Given the description of an element on the screen output the (x, y) to click on. 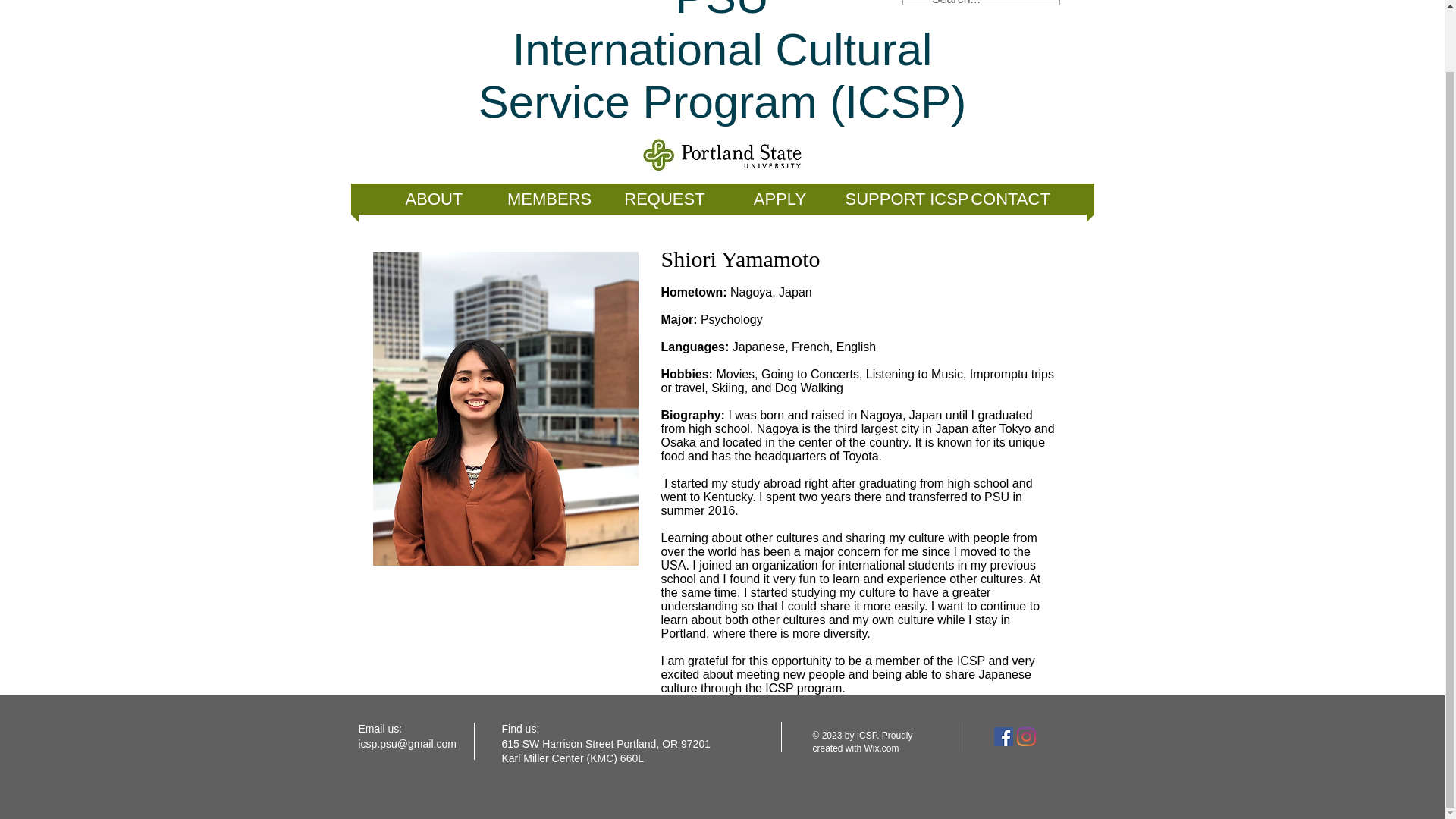
CONTACT (1009, 198)
SUPPORT ICSP (894, 198)
Wix.com (881, 747)
APPLY (779, 198)
REQUEST (664, 198)
MEMBERS (706, 63)
ABOUT (549, 198)
